Given the description of an element on the screen output the (x, y) to click on. 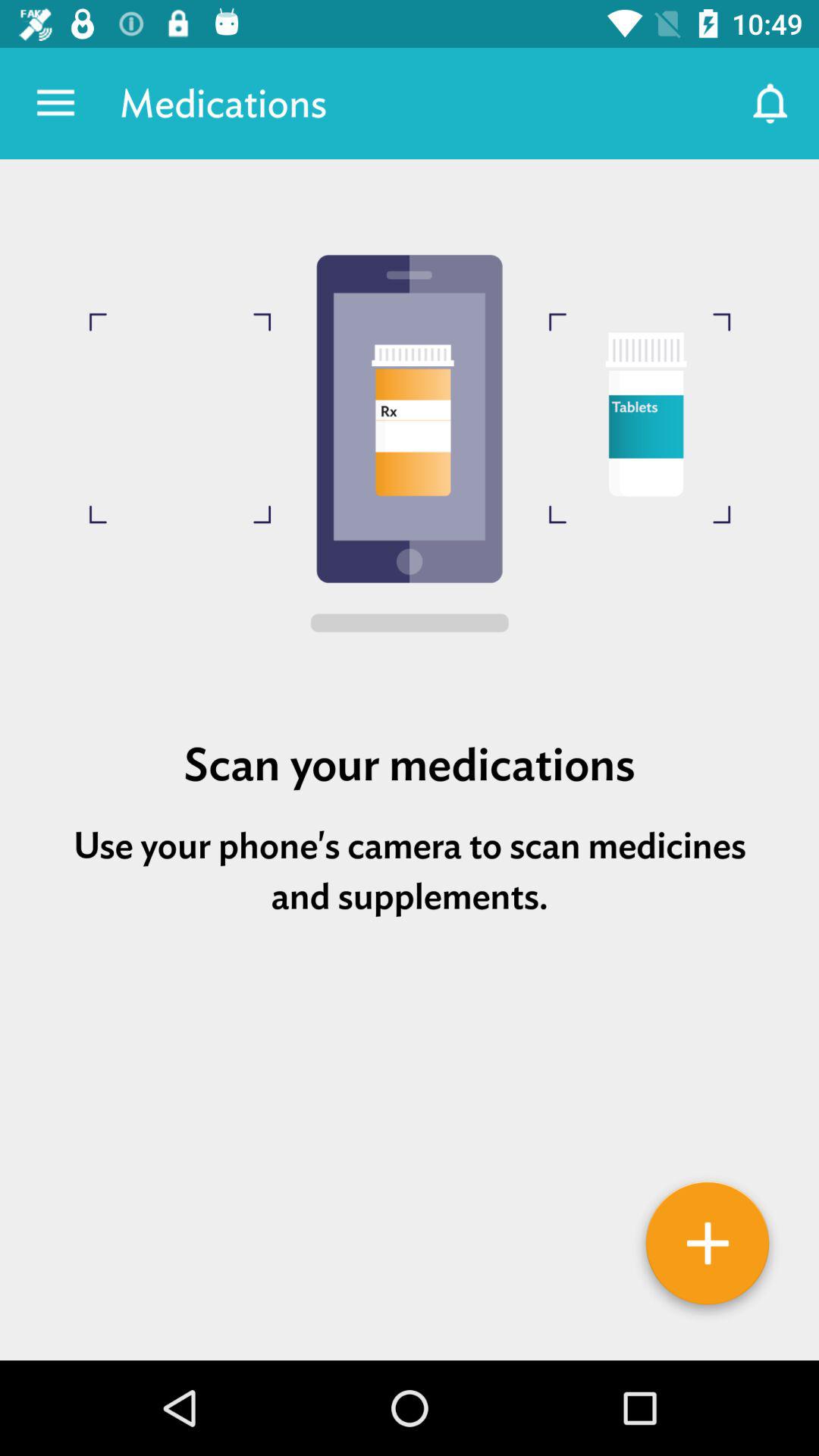
tap the item at the bottom right corner (707, 1248)
